Given the description of an element on the screen output the (x, y) to click on. 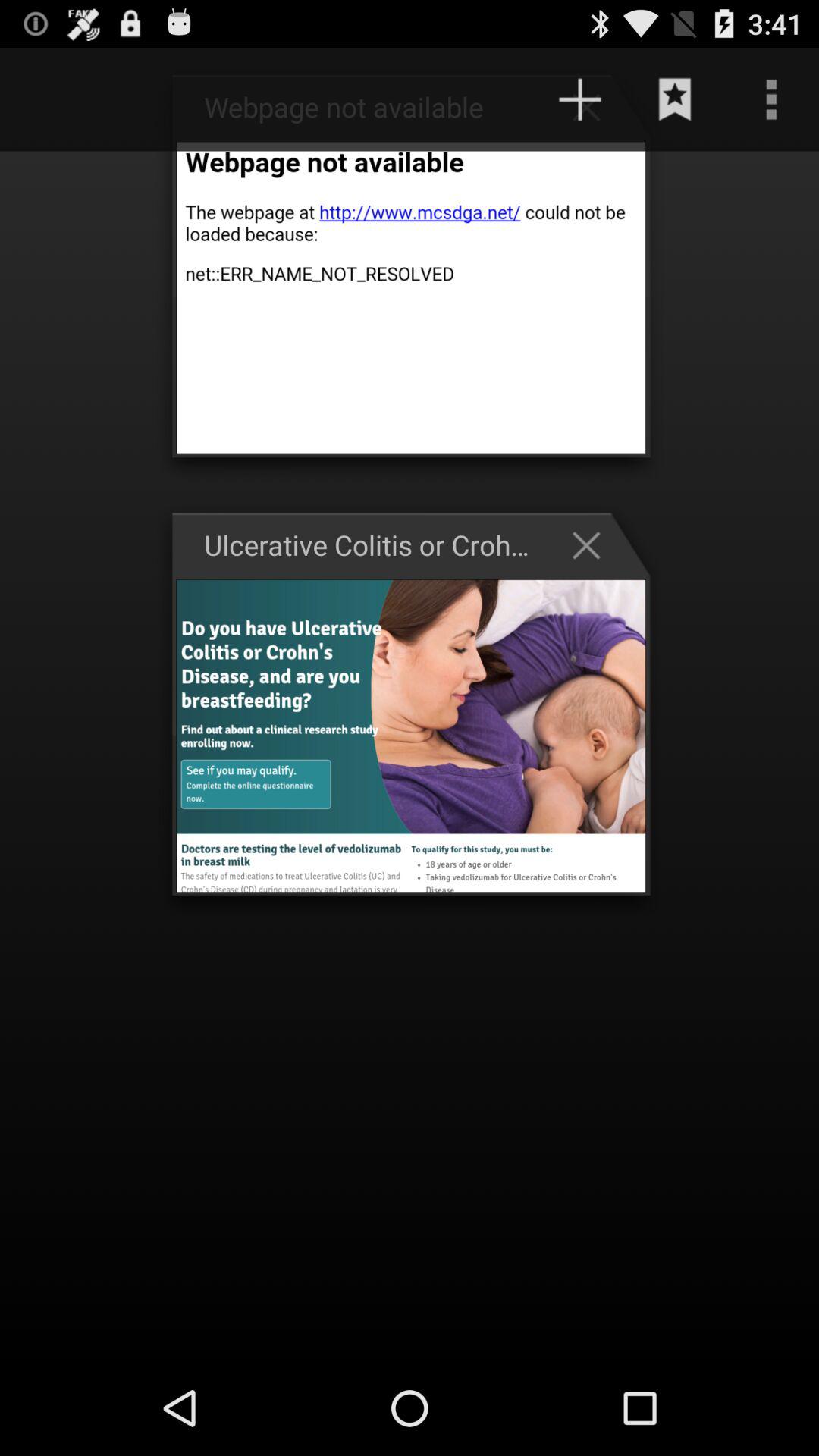
select the plus icon (594, 106)
click on the plus icon (580, 99)
